Given the description of an element on the screen output the (x, y) to click on. 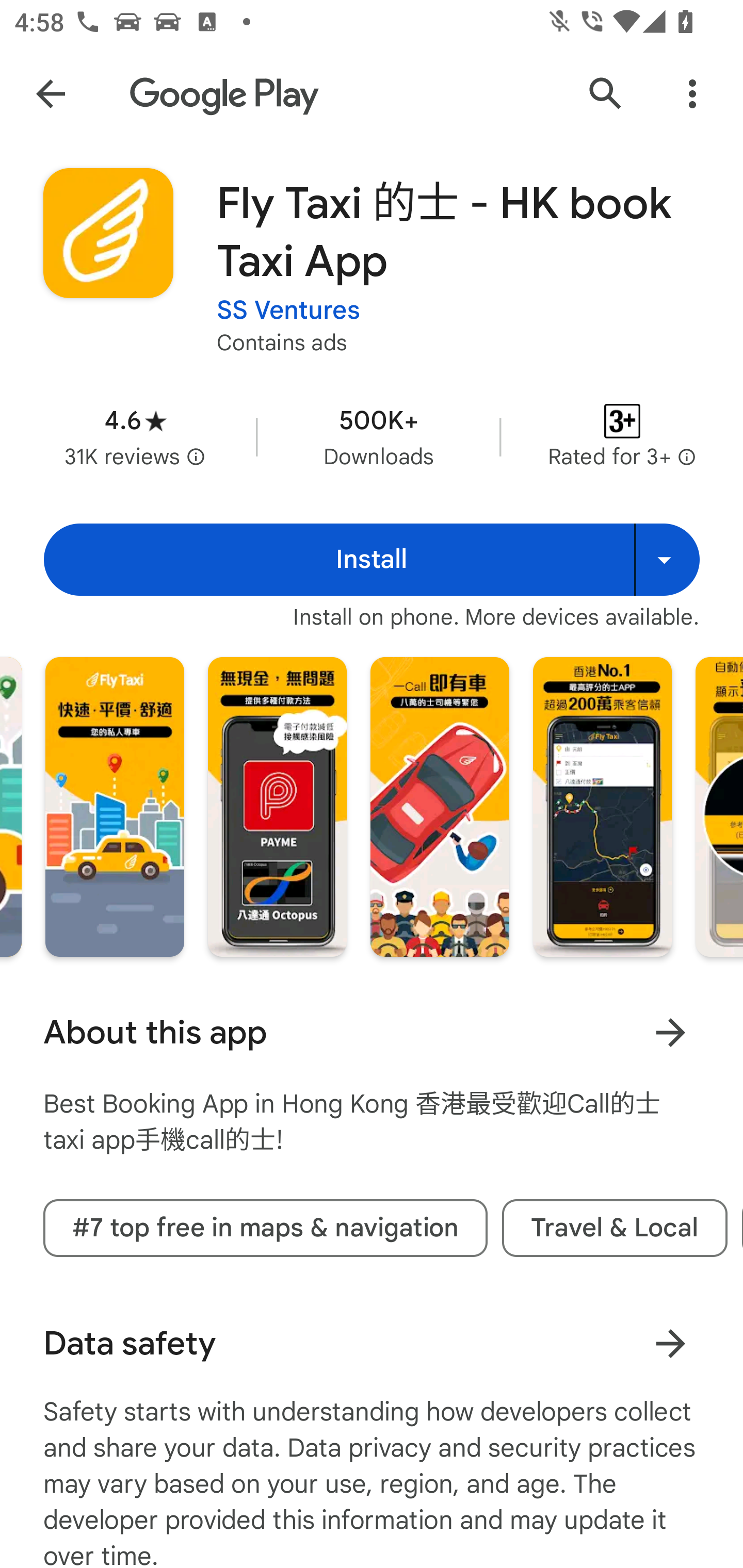
Navigate up (50, 93)
Search Google Play (605, 93)
More Options (692, 93)
SS Ventures (288, 310)
Average rating 4.6 stars in 31 thousand reviews (135, 436)
Content rating Rated for 3+ (622, 436)
Install Install Install on more devices (371, 559)
Install on more devices (667, 559)
Screenshot "1" of "8" (114, 806)
Screenshot "2" of "8" (277, 806)
Screenshot "3" of "8" (439, 806)
Screenshot "4" of "8" (601, 806)
About this app Learn more About this app (371, 1032)
Learn more About this app (670, 1032)
#7 top free in maps & navigation tag (265, 1228)
Travel & Local tag (614, 1228)
Data safety Learn more about data safety (371, 1343)
Learn more about data safety (670, 1343)
